Given the description of an element on the screen output the (x, y) to click on. 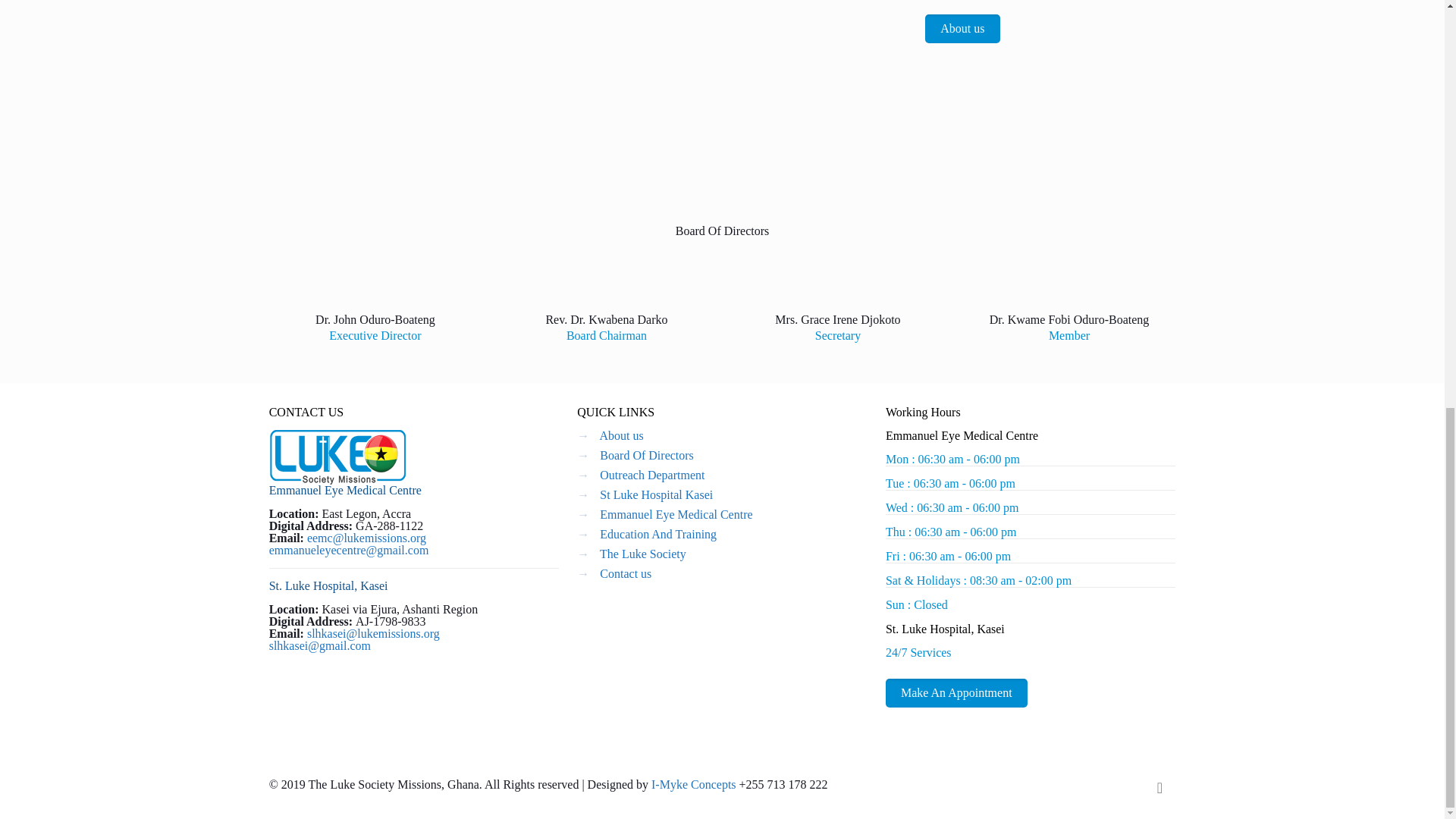
Education And Training (657, 533)
St Luke Hospital Kasei (656, 494)
About us (620, 435)
Board Of Directors (646, 454)
About us (961, 28)
Outreach Department (651, 474)
Emmanuel Eye Medical Centre (675, 513)
